Given the description of an element on the screen output the (x, y) to click on. 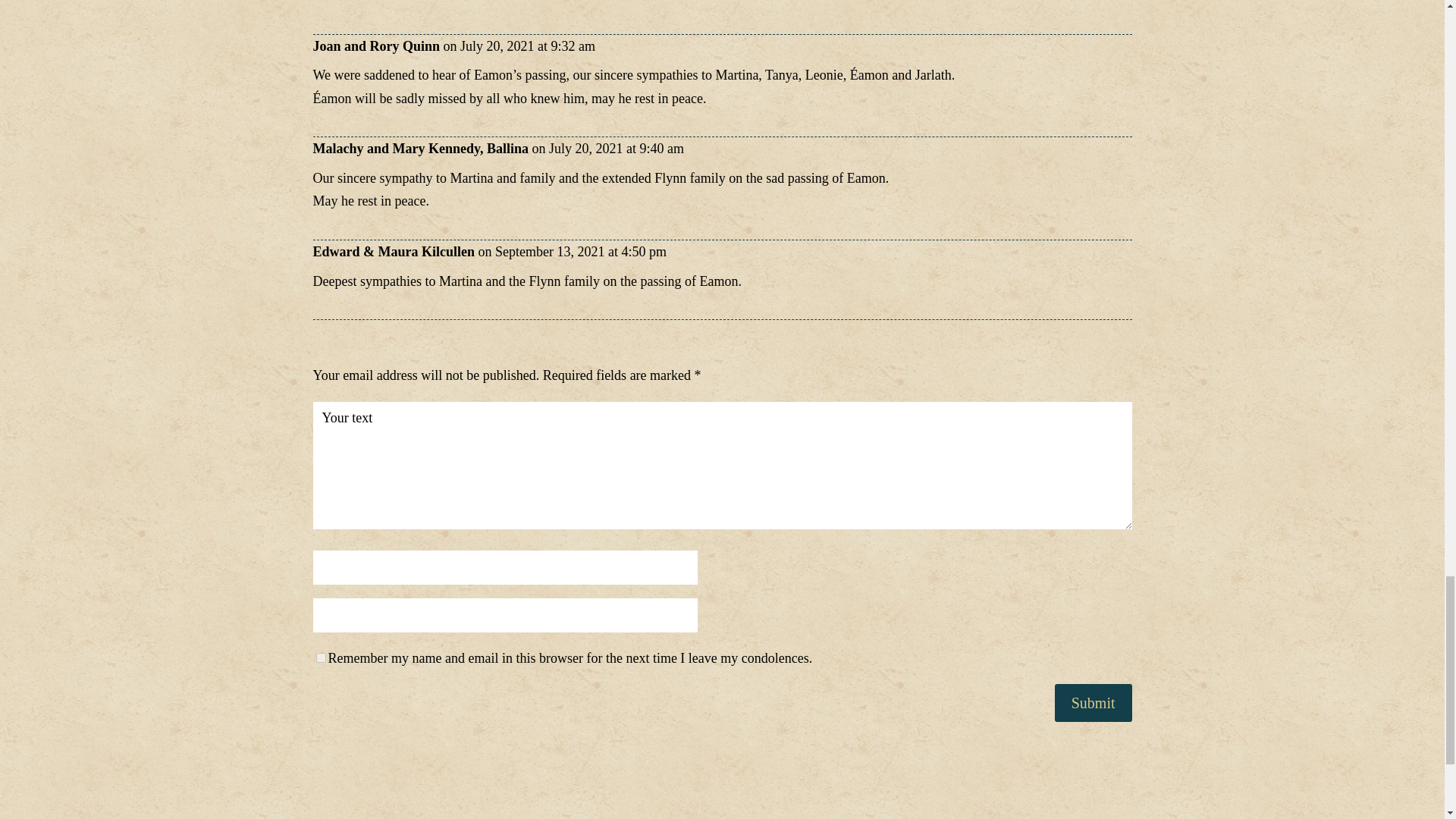
Submit (1093, 702)
yes (319, 657)
